Given the description of an element on the screen output the (x, y) to click on. 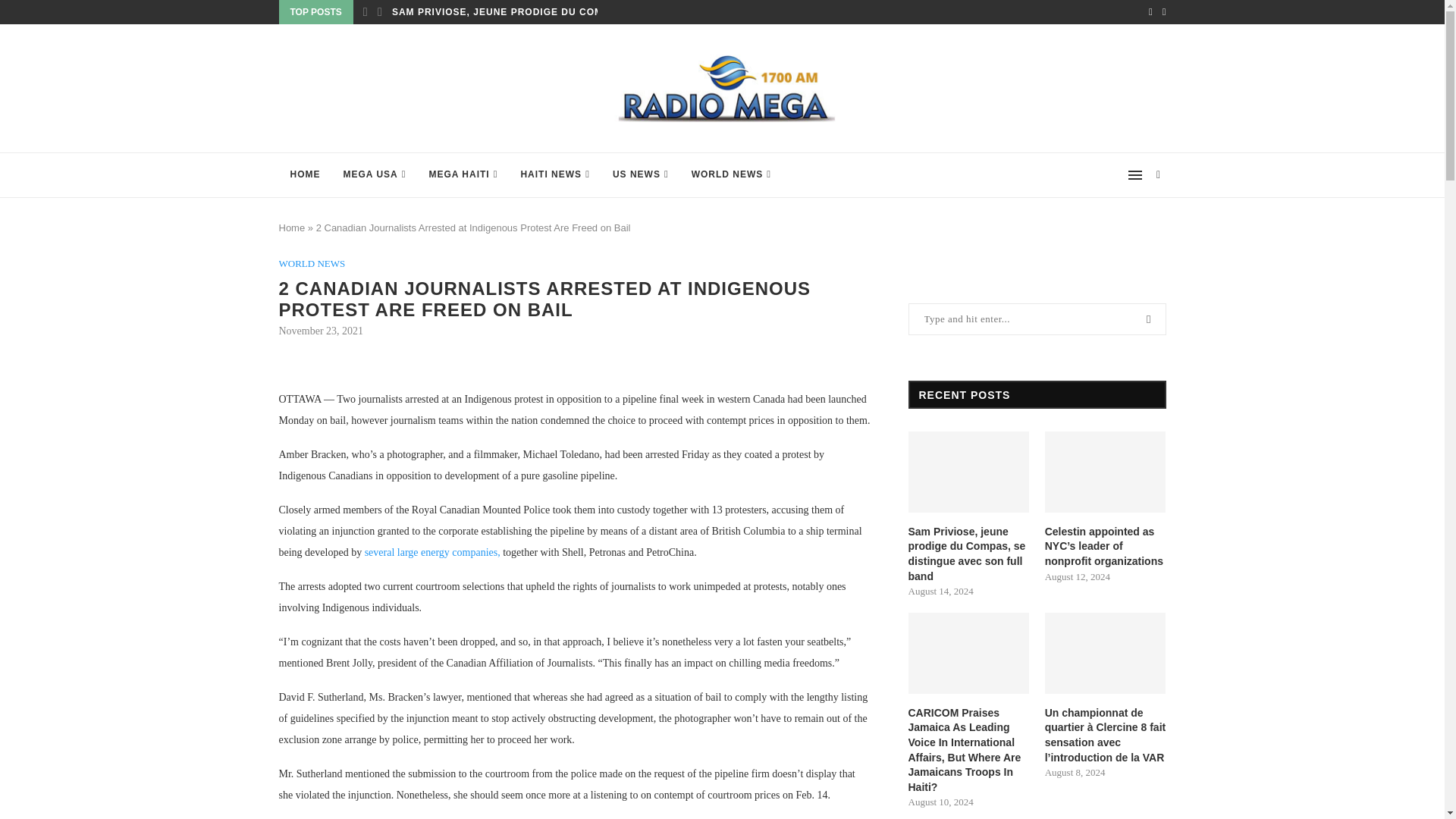
HOME (305, 175)
HAITI NEWS (553, 175)
SAM PRIVIOSE, JEUNE PRODIGE DU COMPAS, SE DISTINGUE... (552, 12)
MEGA HAITI (462, 175)
MEGA USA (374, 175)
